Given the description of an element on the screen output the (x, y) to click on. 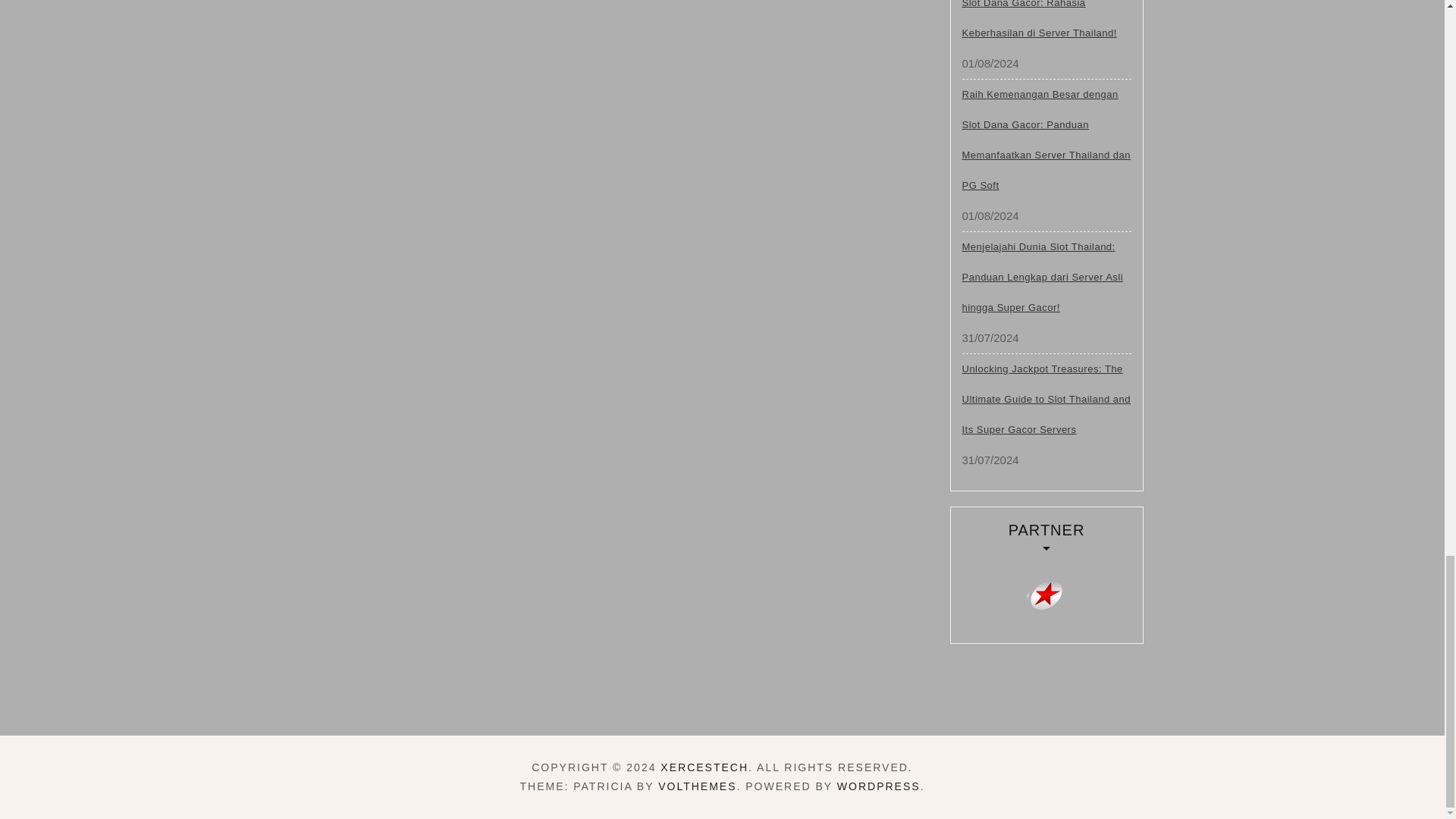
Xercestech (704, 767)
VolThemes (697, 786)
WordPress (878, 786)
Togel Hari Ini (1046, 595)
